Given the description of an element on the screen output the (x, y) to click on. 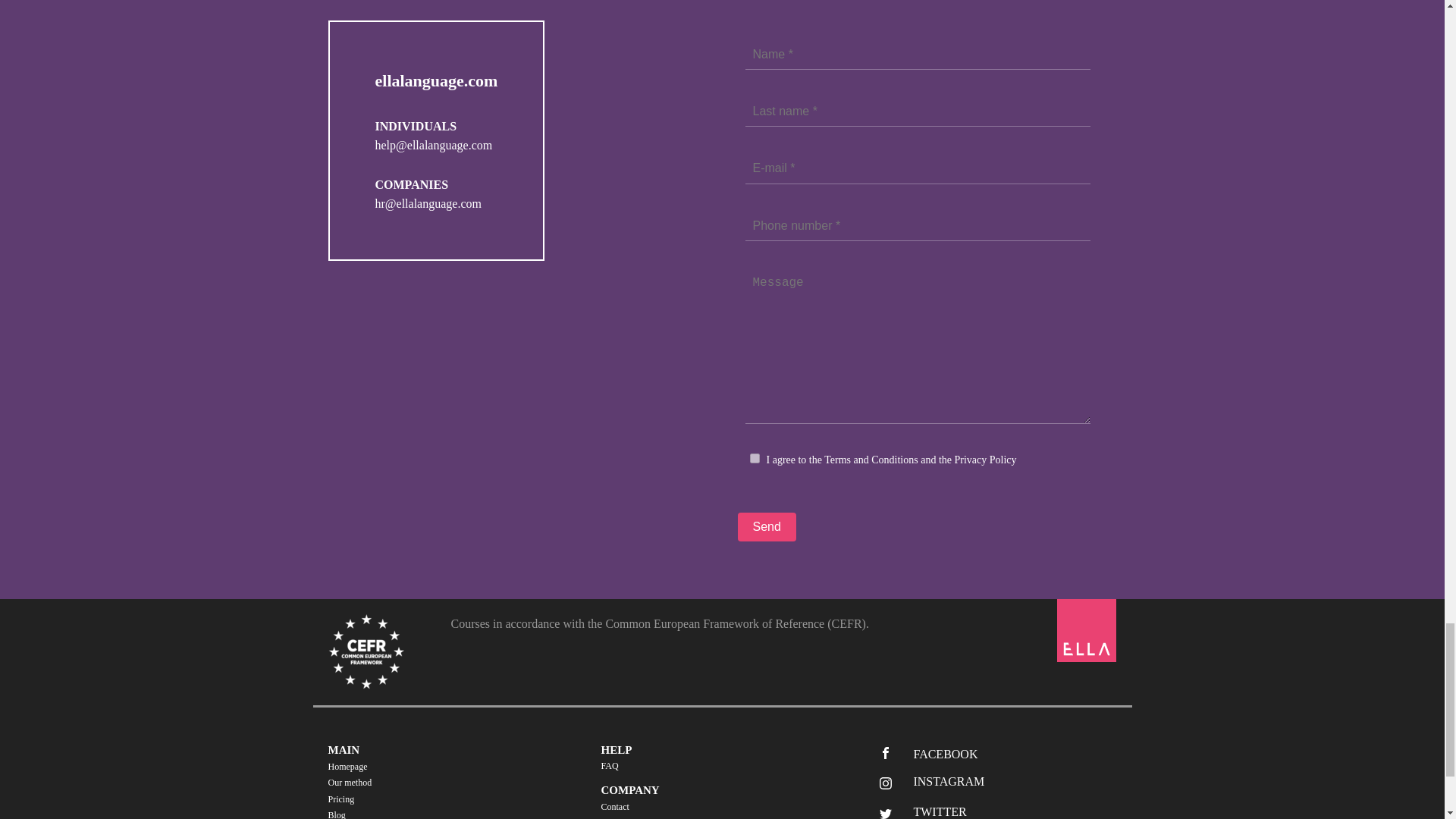
Pricing (350, 799)
1 (753, 458)
Send (765, 526)
Send (765, 526)
Blog (350, 813)
Homepage (350, 766)
Our method (350, 782)
